Given the description of an element on the screen output the (x, y) to click on. 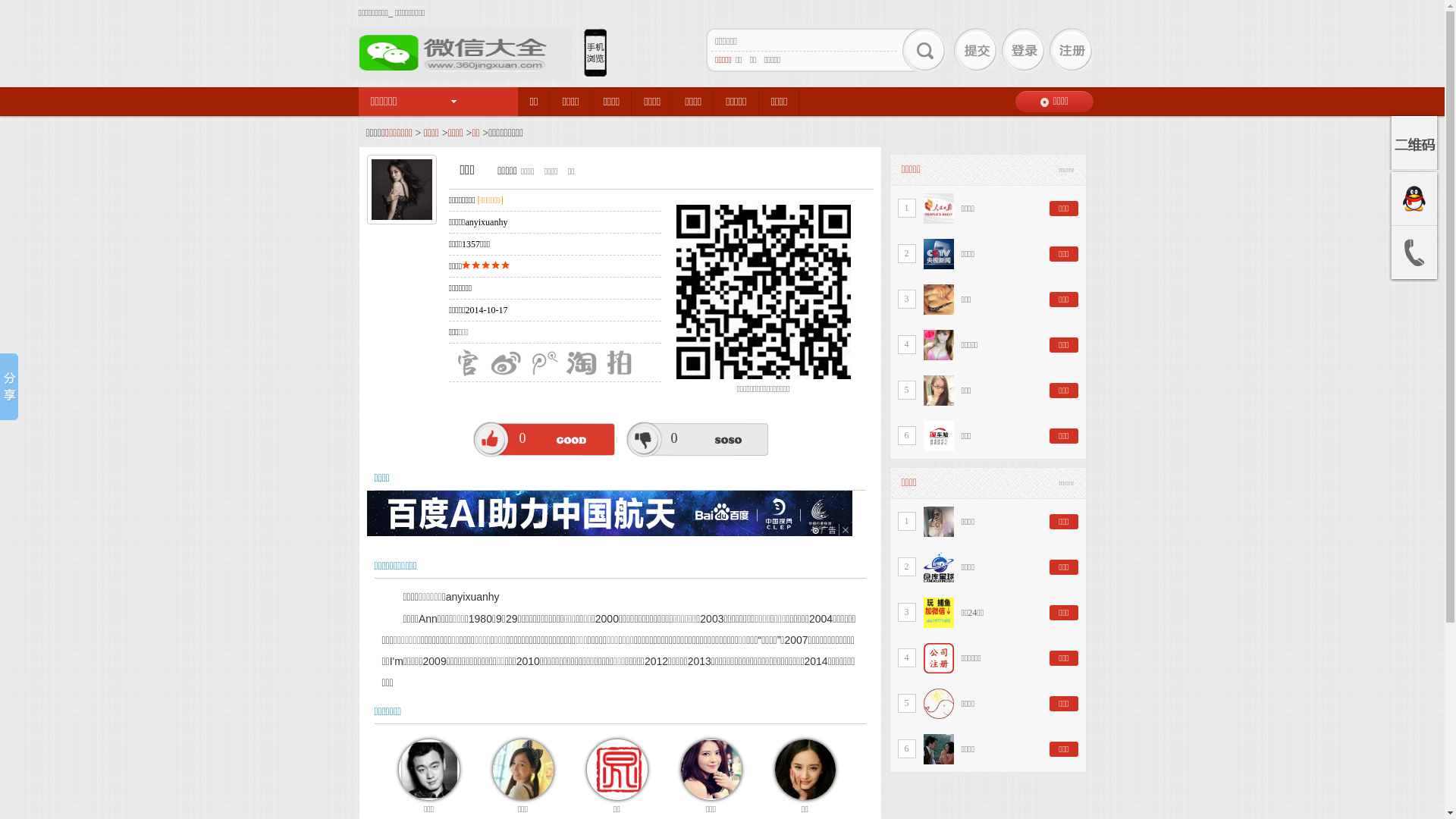
  0 Element type: text (696, 438)
  0 Element type: text (545, 438)
more Element type: text (1066, 169)
more Element type: text (1066, 482)
